Given the description of an element on the screen output the (x, y) to click on. 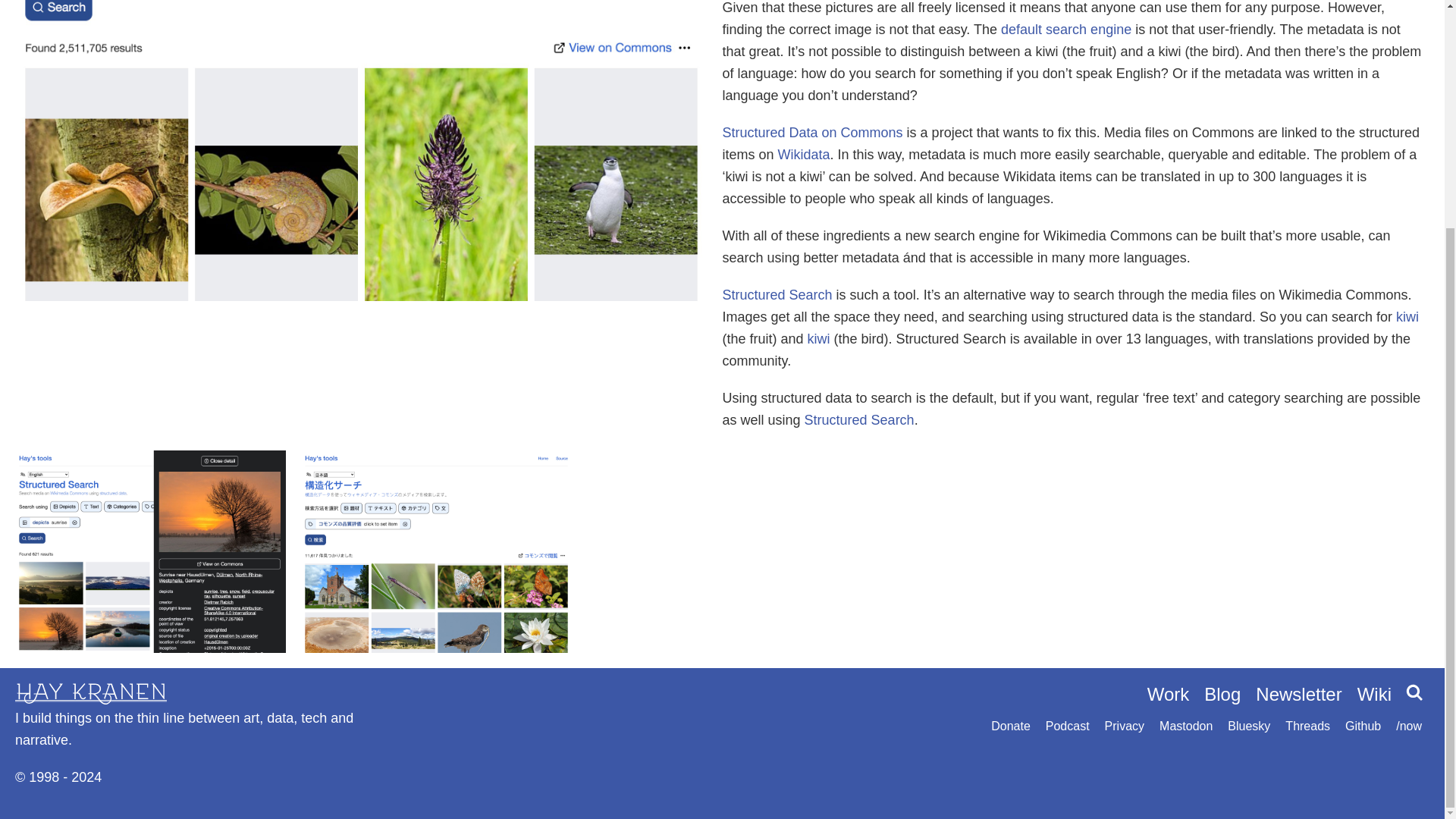
Bluesky (1248, 725)
Structured Search (859, 419)
Podcast (1067, 725)
Privacy (1124, 725)
Work (1168, 693)
Newsletter (1298, 693)
kiwi (1407, 316)
Github (1362, 725)
Blog (1221, 693)
default search engine (1066, 29)
Wikidata (803, 154)
Wiki (1374, 693)
Threads (1307, 725)
Structured Data on Commons (812, 132)
kiwi (818, 338)
